Given the description of an element on the screen output the (x, y) to click on. 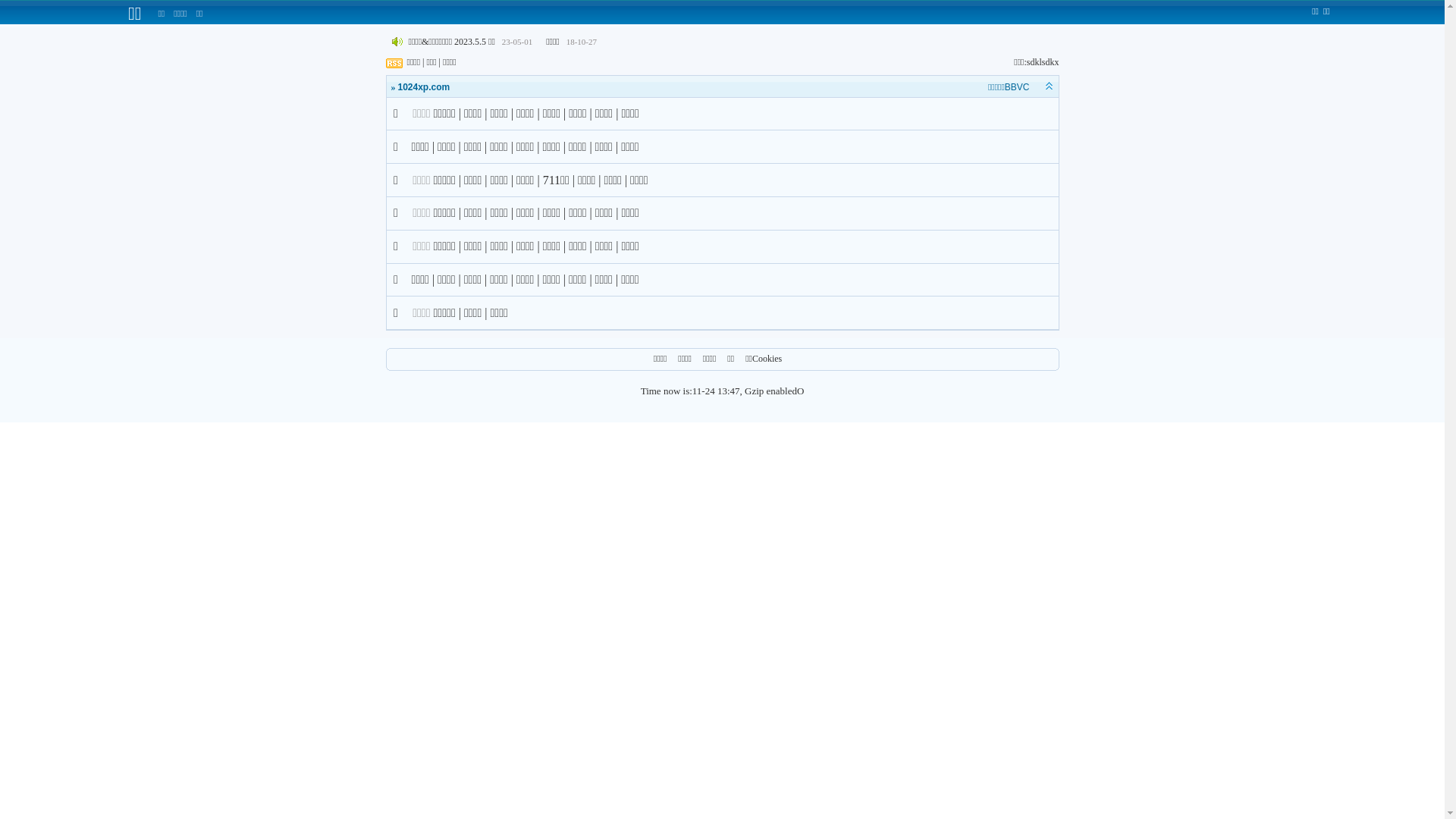
BBVC Element type: text (1016, 86)
1024xp.com Element type: text (423, 86)
sdklsdkx Element type: text (1042, 61)
